Given the description of an element on the screen output the (x, y) to click on. 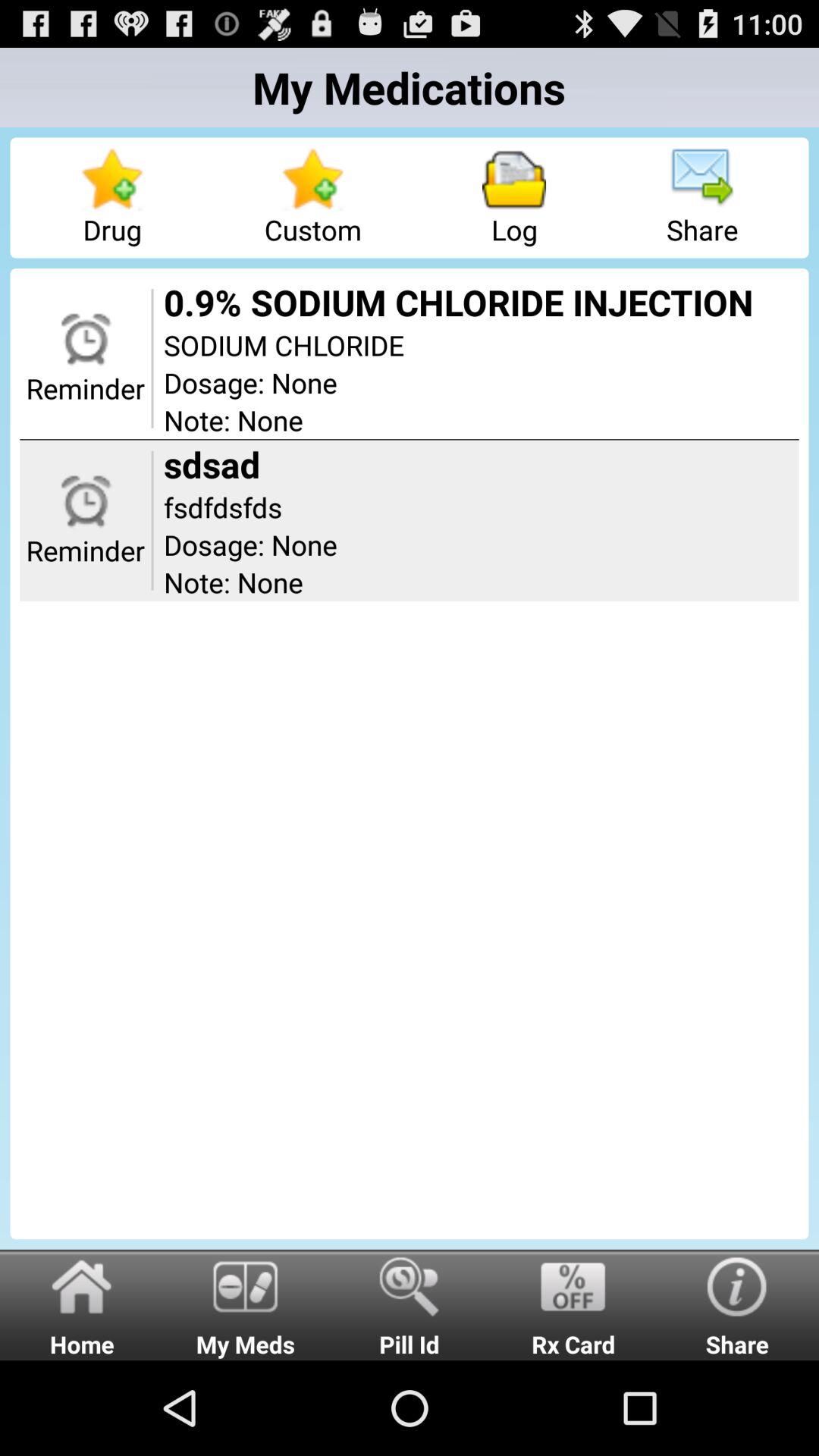
scroll until the fsdfdsfds icon (481, 507)
